Given the description of an element on the screen output the (x, y) to click on. 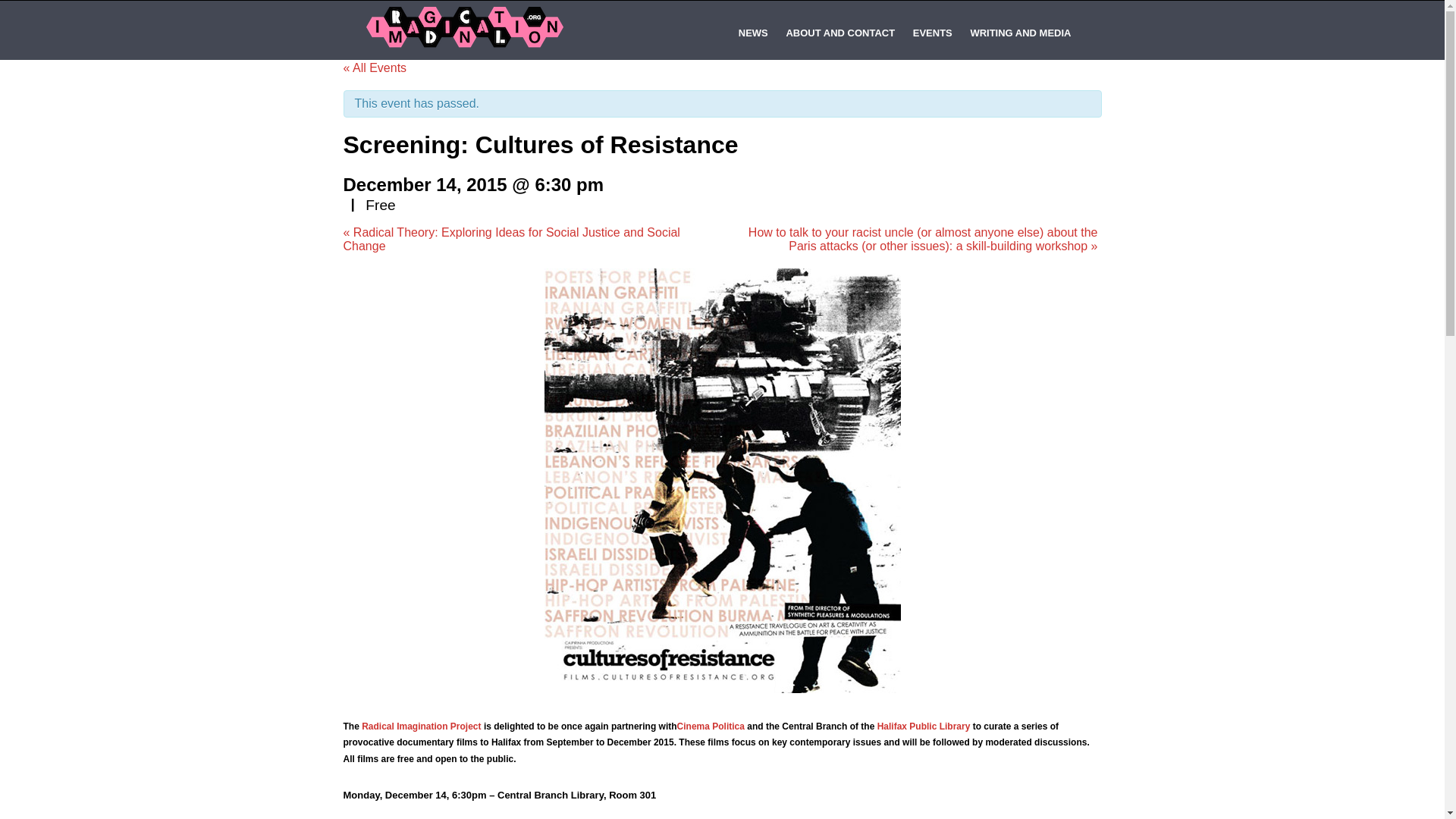
Radical Imagination Project (420, 726)
NEWS (753, 32)
WRITING AND MEDIA (1020, 32)
EVENTS (932, 32)
ABOUT AND CONTACT (839, 32)
Halifax Public Library (924, 726)
Cinema Politica (710, 726)
